Given the description of an element on the screen output the (x, y) to click on. 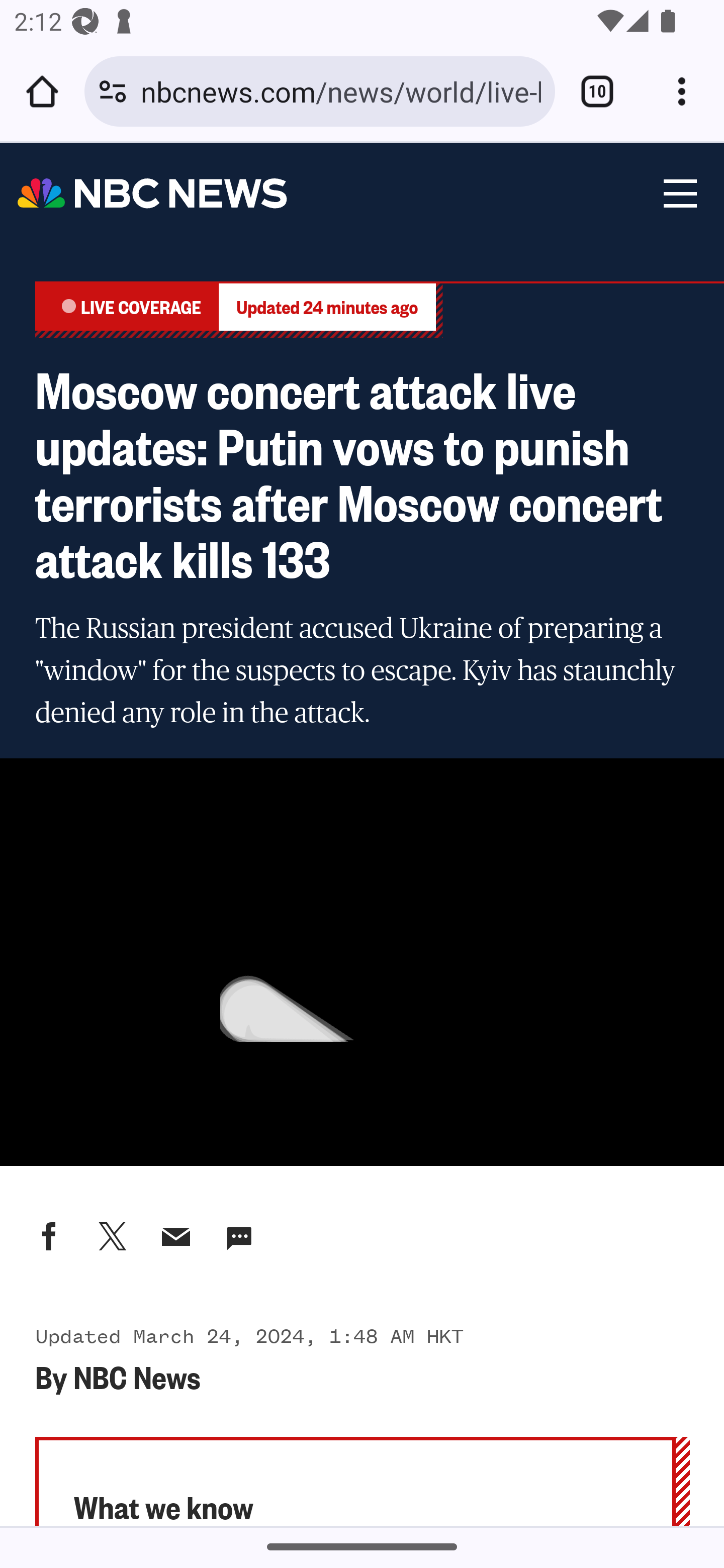
Open the home page (42, 91)
Connection is secure (112, 91)
Switch or close tabs (597, 91)
Customize and control Google Chrome (681, 91)
NBC News Logo (152, 194)
news navigation and search (678, 194)
Play (362, 961)
 (49, 1235)
 (112, 1235)
 (176, 1235)
 (239, 1235)
